Given the description of an element on the screen output the (x, y) to click on. 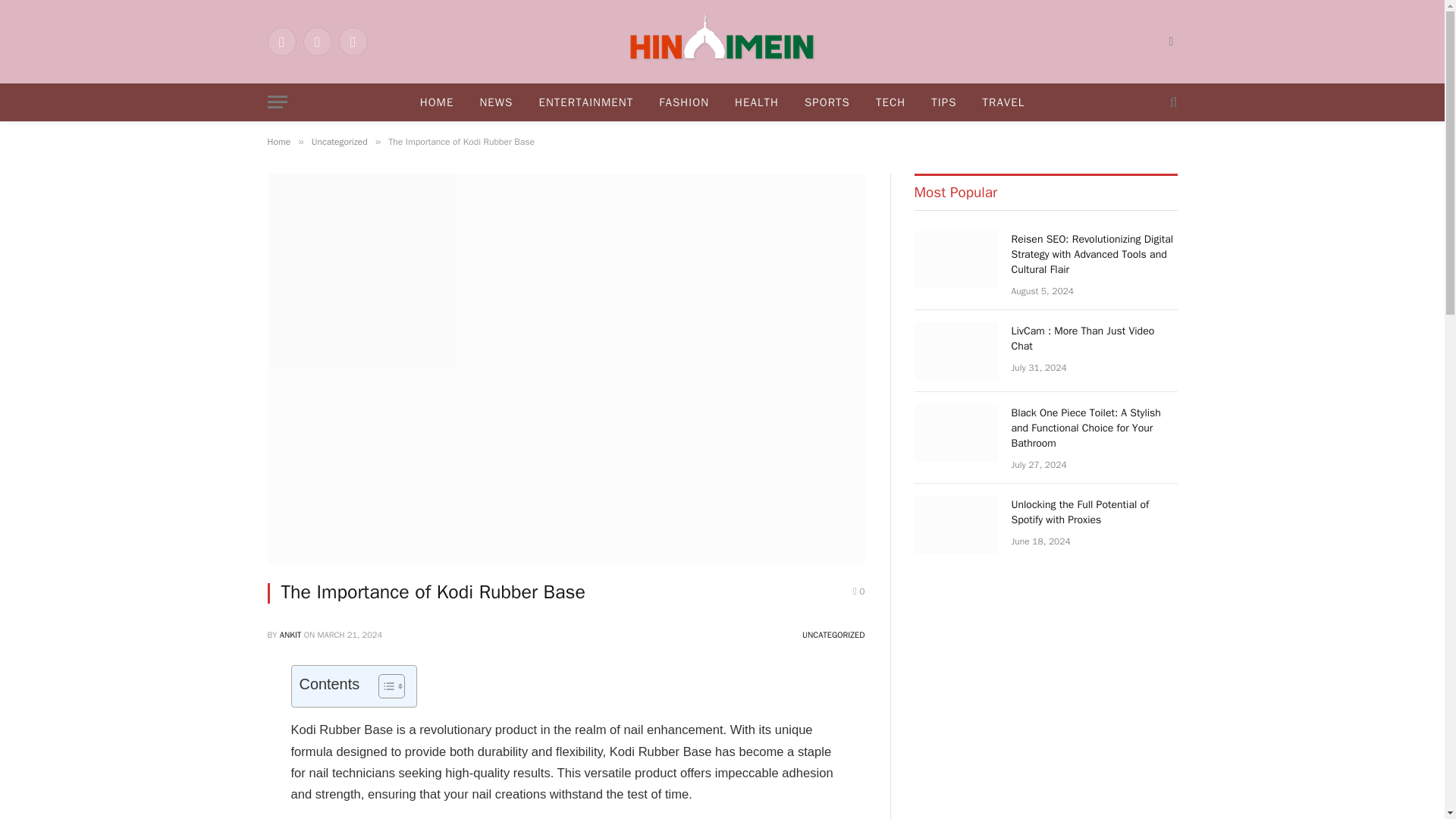
Uncategorized (339, 141)
FASHION (684, 101)
HEALTH (757, 101)
Hindi Mein (721, 41)
SPORTS (827, 101)
2024-03-21 (349, 634)
HOME (437, 101)
Twitter (316, 41)
TECH (890, 101)
